Given the description of an element on the screen output the (x, y) to click on. 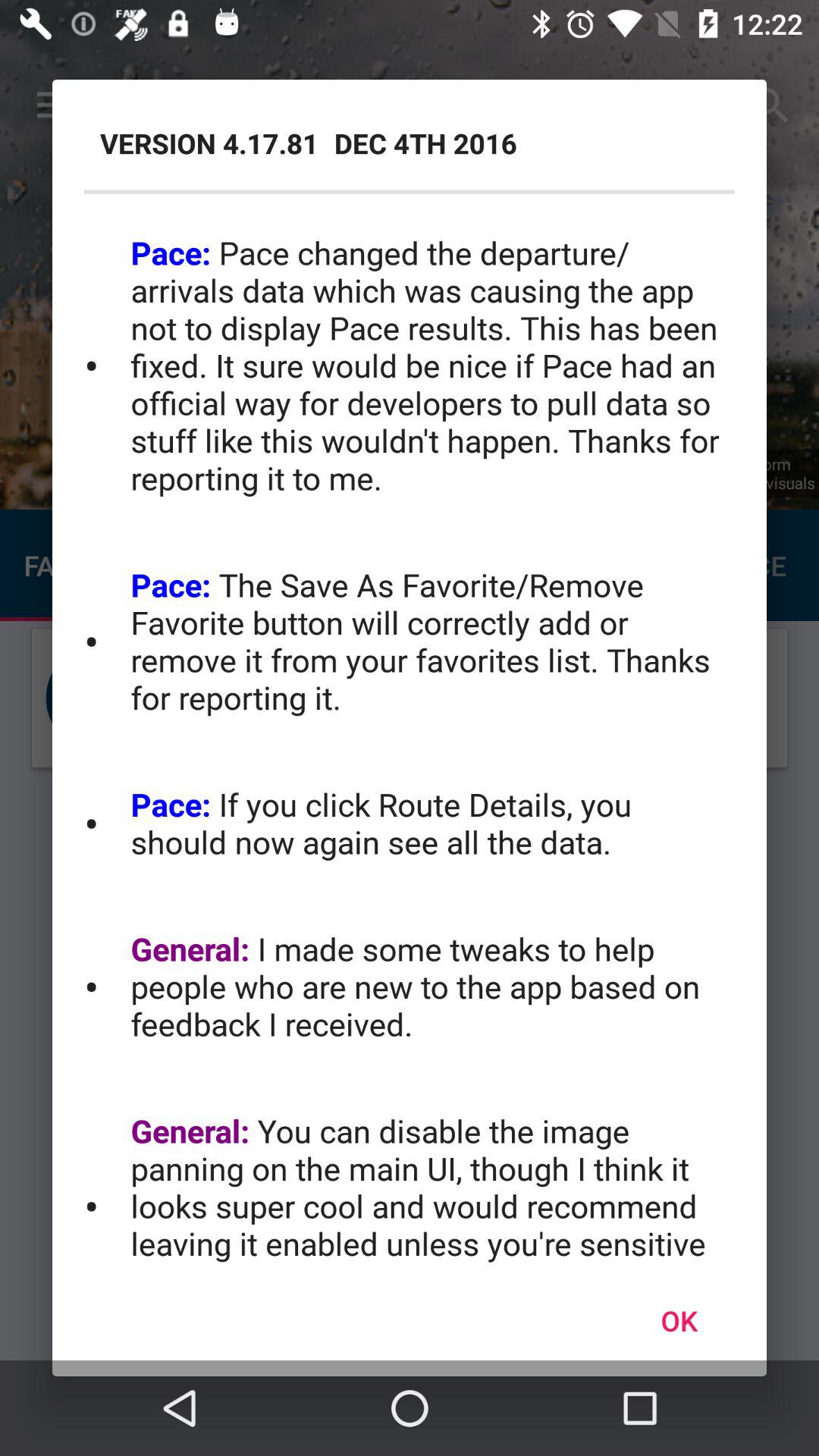
flip to the ok item (678, 1320)
